Given the description of an element on the screen output the (x, y) to click on. 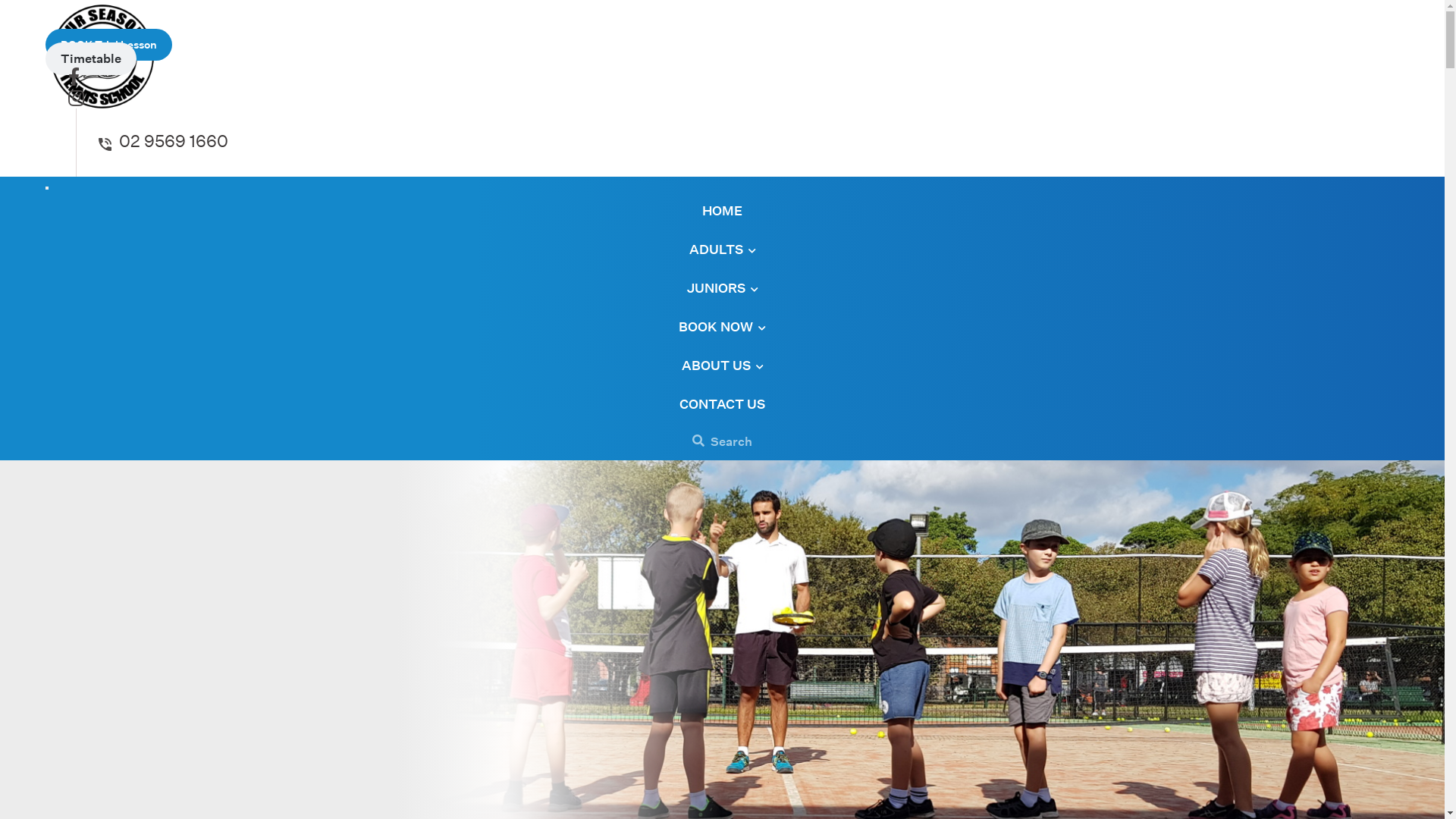
Search Element type: text (722, 441)
JUNIORS Element type: text (722, 287)
ABOUT US Element type: text (721, 364)
Timetable Element type: text (90, 58)
BOOK Trial Lesson Element type: text (108, 44)
HOME Element type: text (722, 209)
BOOK NOW Element type: text (721, 325)
ADULTS Element type: text (721, 248)
02 9569 1660 Element type: text (163, 140)
CONTACT US Element type: text (722, 403)
